Given the description of an element on the screen output the (x, y) to click on. 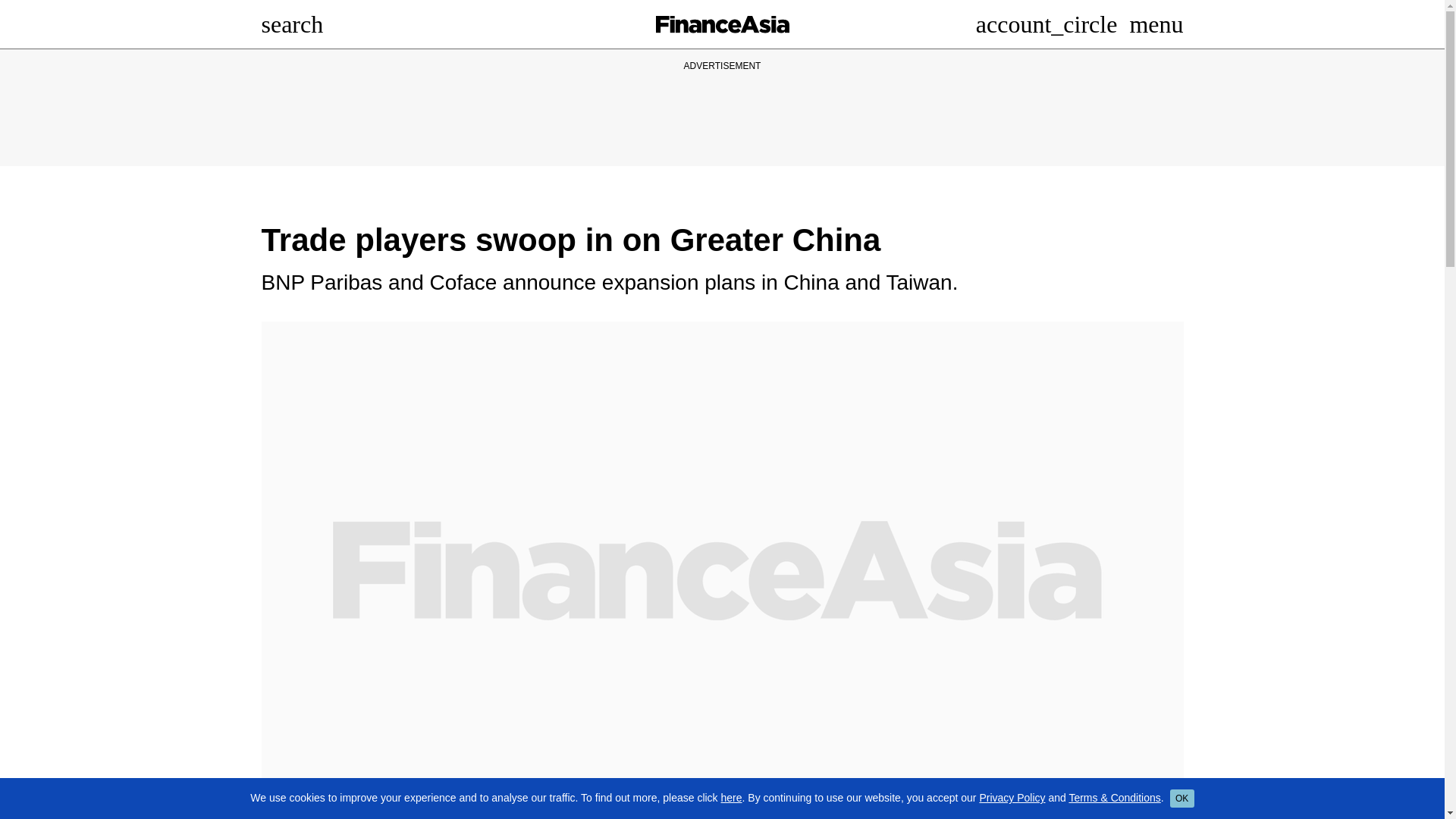
3rd party ad content (721, 107)
Privacy Policy (1011, 797)
here (730, 797)
Sign In (1046, 24)
Menu (1155, 24)
Search (291, 24)
OK (1181, 798)
